Given the description of an element on the screen output the (x, y) to click on. 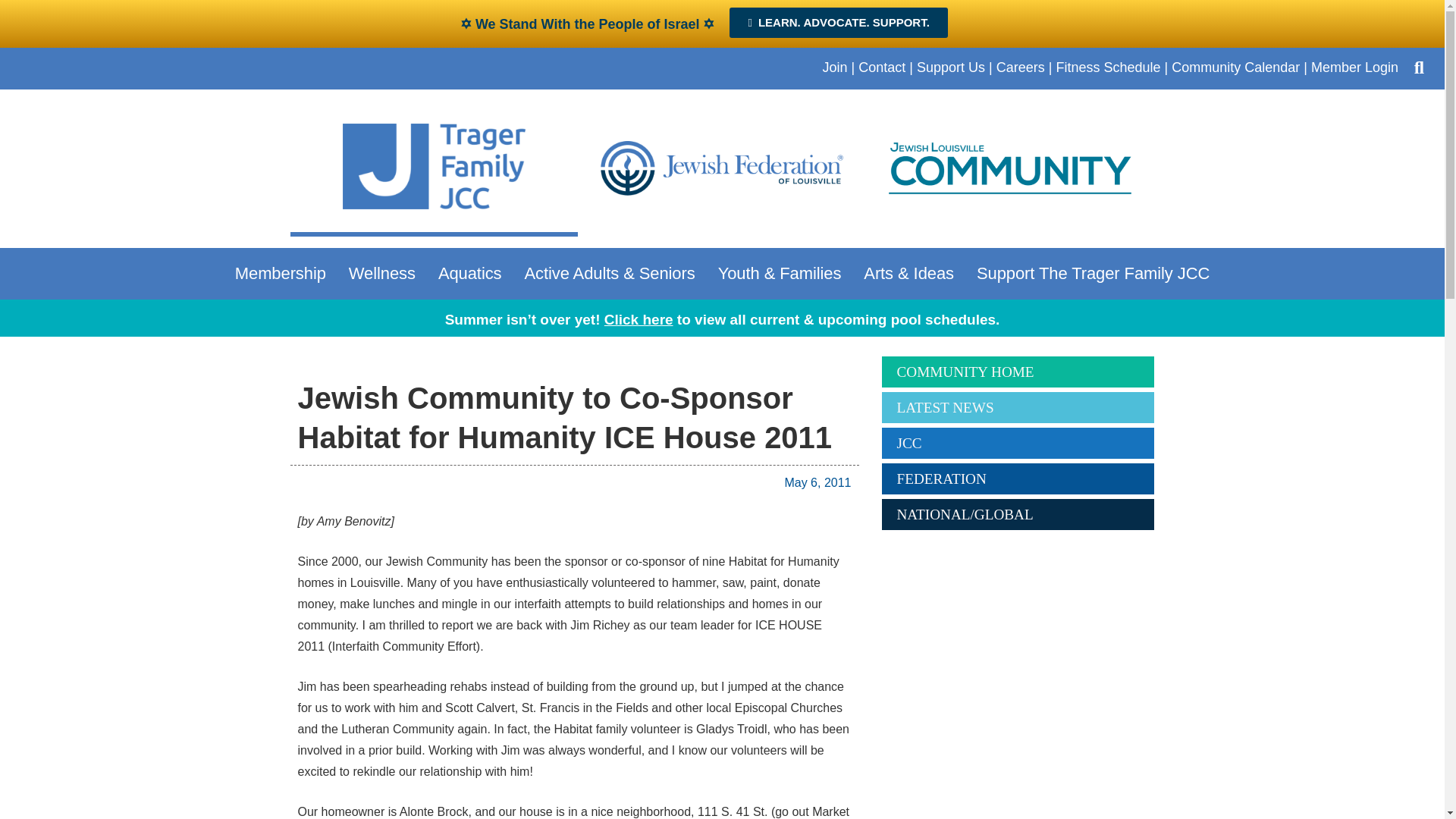
Wellness (385, 273)
Careers (1020, 67)
Contact (882, 67)
Membership (283, 273)
Support Us (951, 67)
Aquatics (473, 273)
LEARN. ADVOCATE. SUPPORT. (838, 22)
Fitness Schedule (1107, 67)
Join (834, 67)
Member Login (1354, 67)
